Given the description of an element on the screen output the (x, y) to click on. 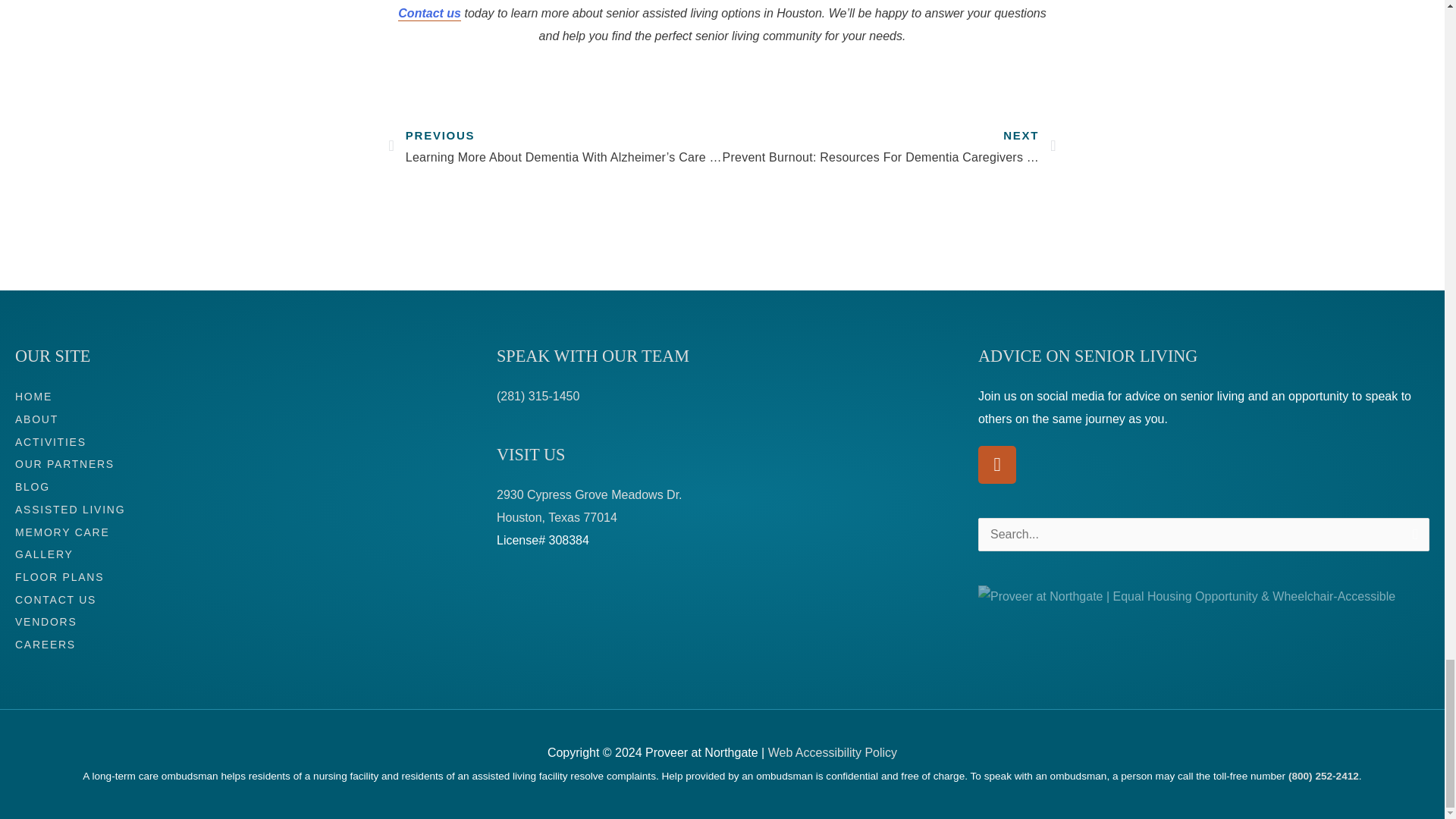
Contact us (429, 13)
